Given the description of an element on the screen output the (x, y) to click on. 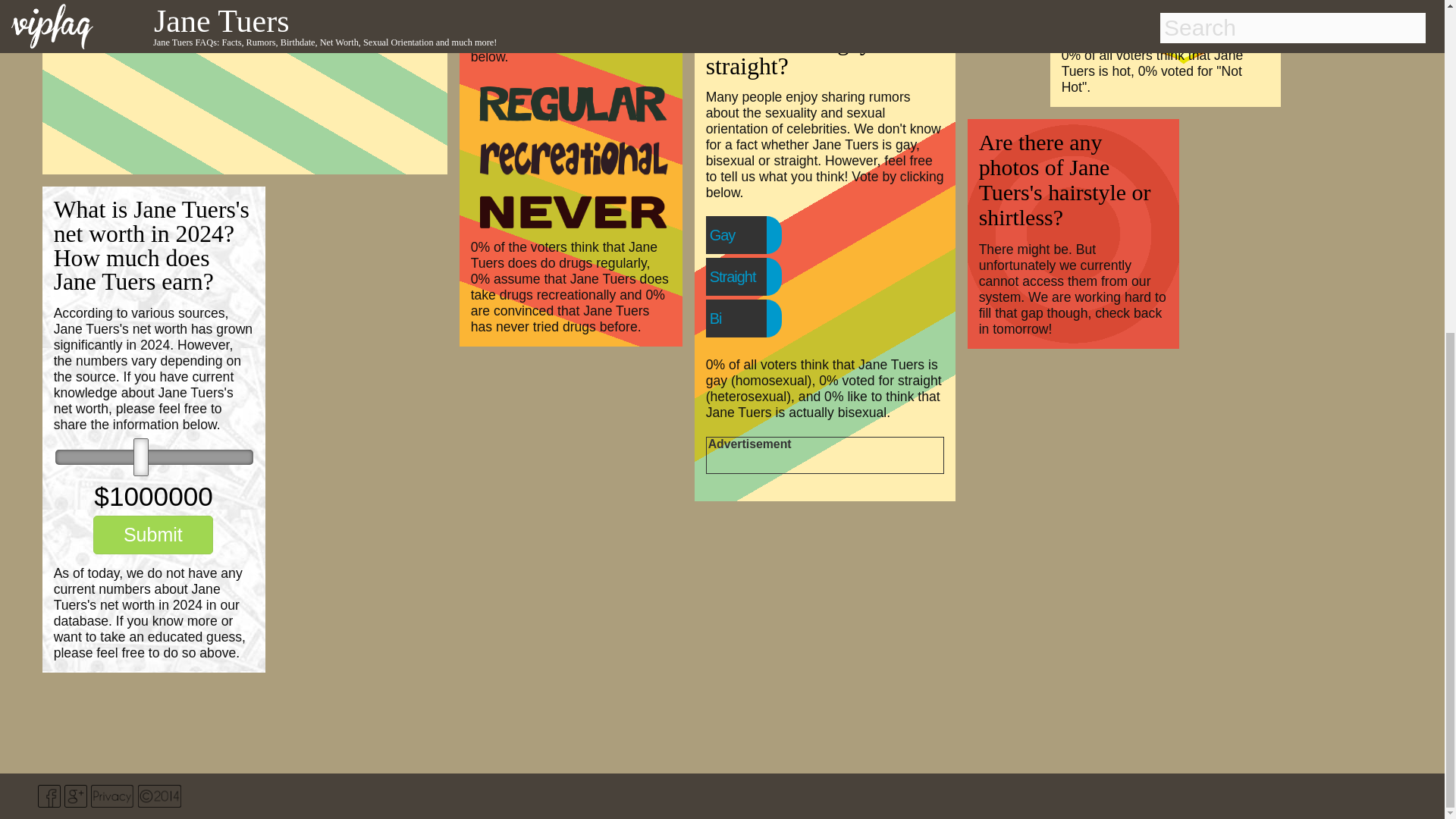
Bi (746, 318)
Submit (152, 534)
Straight (763, 276)
Gay (753, 234)
6 (154, 457)
